Given the description of an element on the screen output the (x, y) to click on. 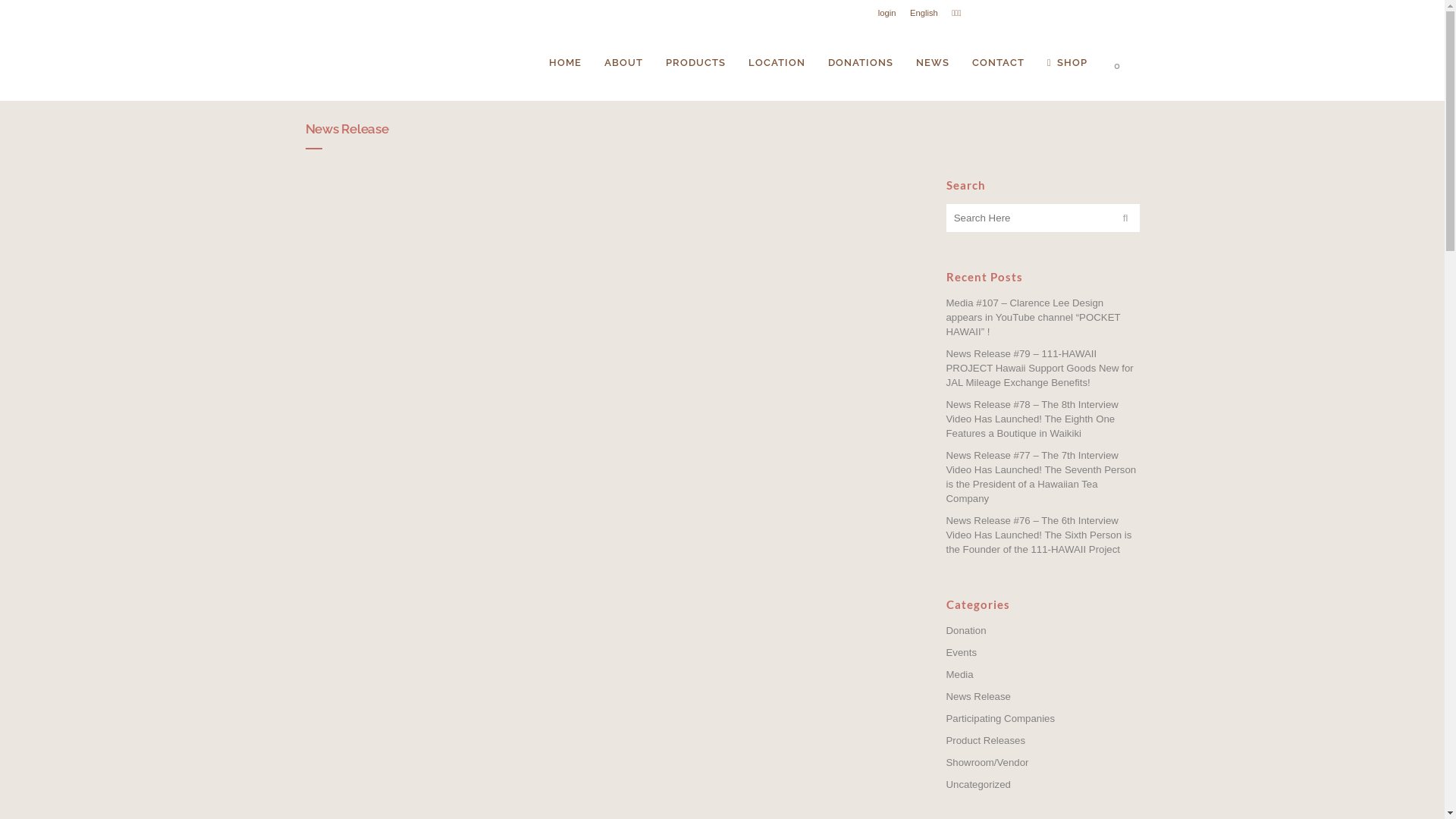
Participating Companies Element type: text (1000, 718)
0 Element type: text (1120, 62)
PRODUCTS Element type: text (695, 62)
English Element type: text (917, 13)
ABOUT Element type: text (623, 62)
CONTACT Element type: text (997, 62)
Product Releases Element type: text (986, 740)
LOCATION Element type: text (776, 62)
Showroom/Vendor Element type: text (987, 762)
login Element type: text (881, 13)
News Release Element type: text (978, 696)
DONATIONS Element type: text (860, 62)
HOME Element type: text (565, 62)
Media Element type: text (959, 674)
Events Element type: text (961, 652)
Donation Element type: text (966, 630)
NEWS Element type: text (932, 62)
Uncategorized Element type: text (978, 784)
SHOP Element type: text (1066, 62)
